Given the description of an element on the screen output the (x, y) to click on. 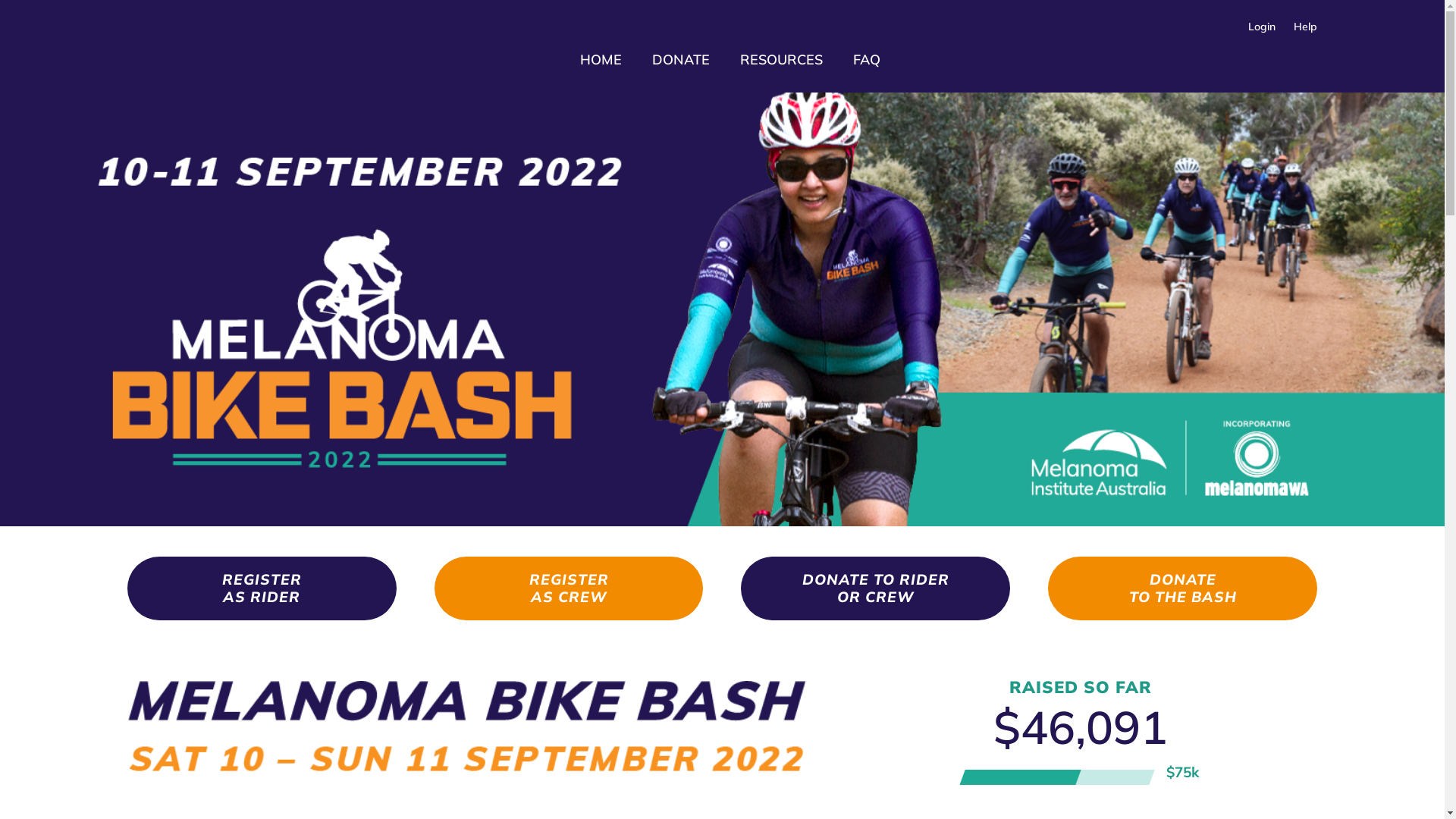
Help Element type: text (1300, 26)
DONATE TO RIDER
OR CREW Element type: text (875, 588)
$46,091 Element type: text (1080, 726)
DONATE
TO THE BASH Element type: text (1182, 588)
REGISTER
AS CREW Element type: text (568, 588)
REGISTER
AS RIDER Element type: text (261, 588)
FAQ Element type: text (865, 59)
Login Element type: text (1261, 26)
HOME Element type: text (600, 59)
DONATE Element type: text (680, 59)
RESOURCES Element type: text (781, 59)
